Given the description of an element on the screen output the (x, y) to click on. 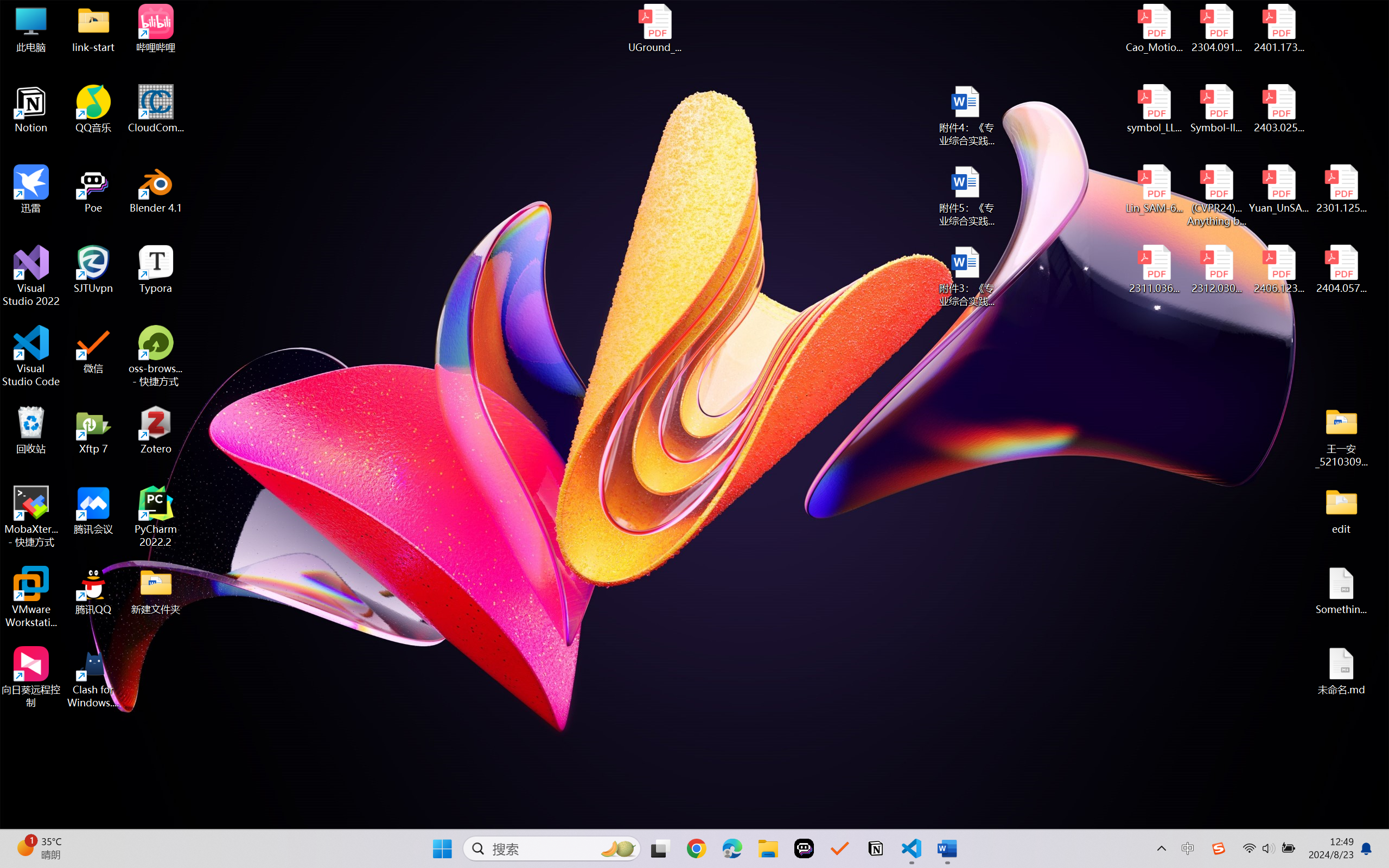
Microsoft Edge (731, 848)
edit (1340, 510)
Blender 4.1 (156, 189)
2312.03032v2.pdf (1216, 269)
2311.03658v2.pdf (1154, 269)
UGround_paper.pdf (654, 28)
